Given the description of an element on the screen output the (x, y) to click on. 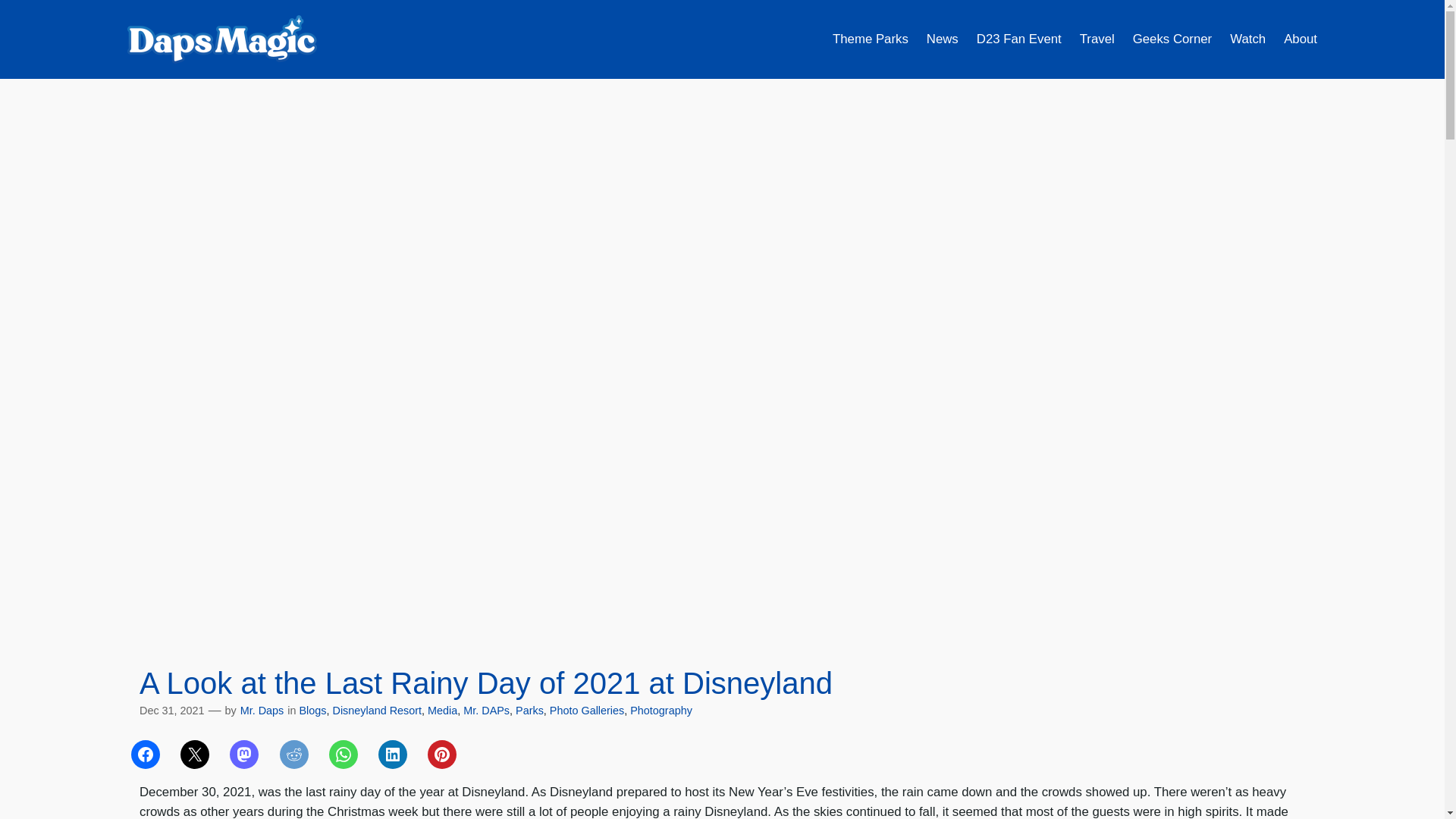
Geeks Corner (1171, 39)
Travel (1097, 39)
Media (442, 710)
Photography (661, 710)
Mr. Daps (261, 710)
News (942, 39)
About (1300, 39)
Photo Galleries (587, 710)
Mr. DAPs (486, 710)
D23 Fan Event (1018, 39)
